Given the description of an element on the screen output the (x, y) to click on. 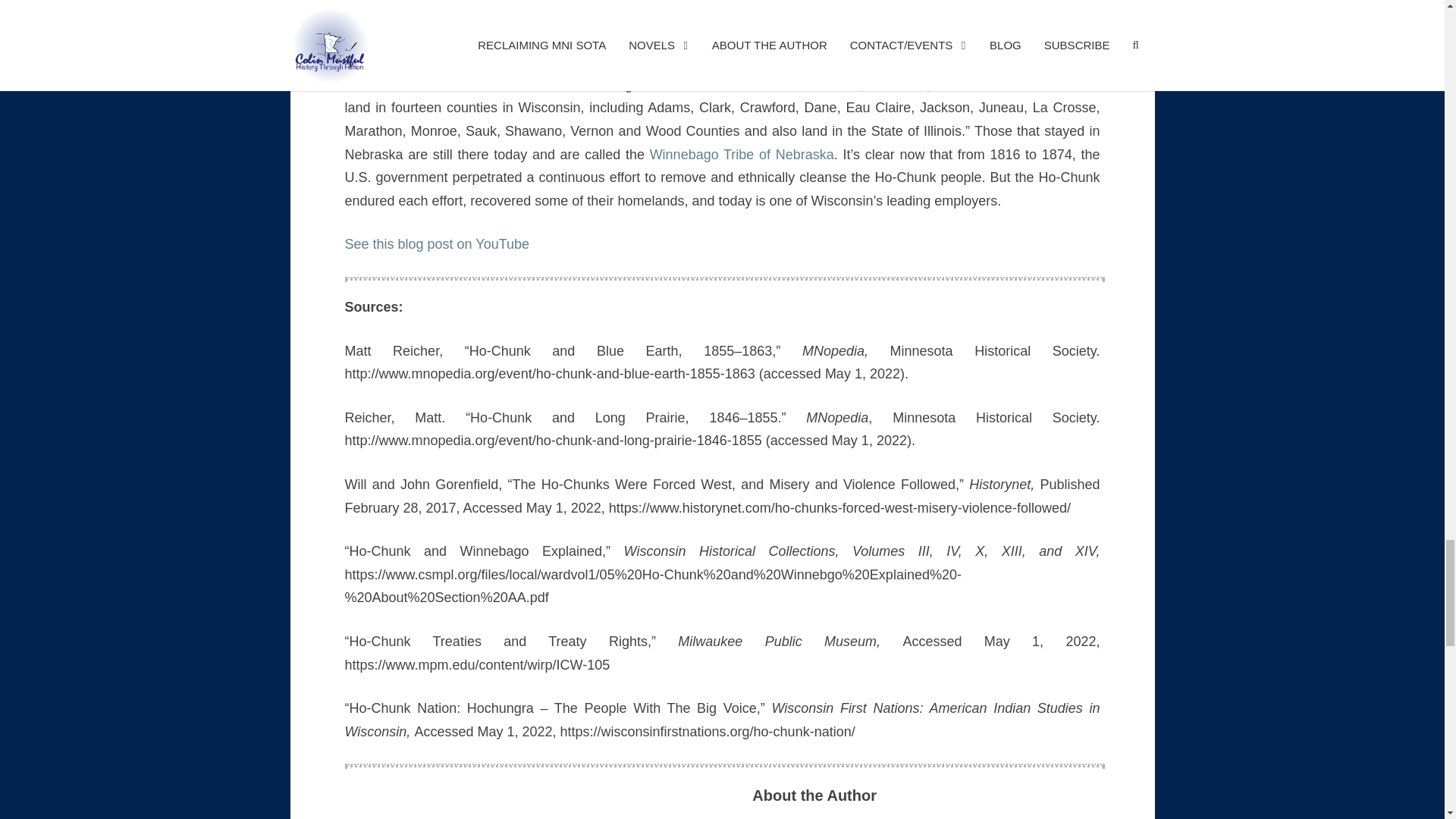
Winnebago Tribe of Nebraska (741, 154)
1862 Homestead Act (834, 1)
See this blog post on YouTube (436, 243)
